Given the description of an element on the screen output the (x, y) to click on. 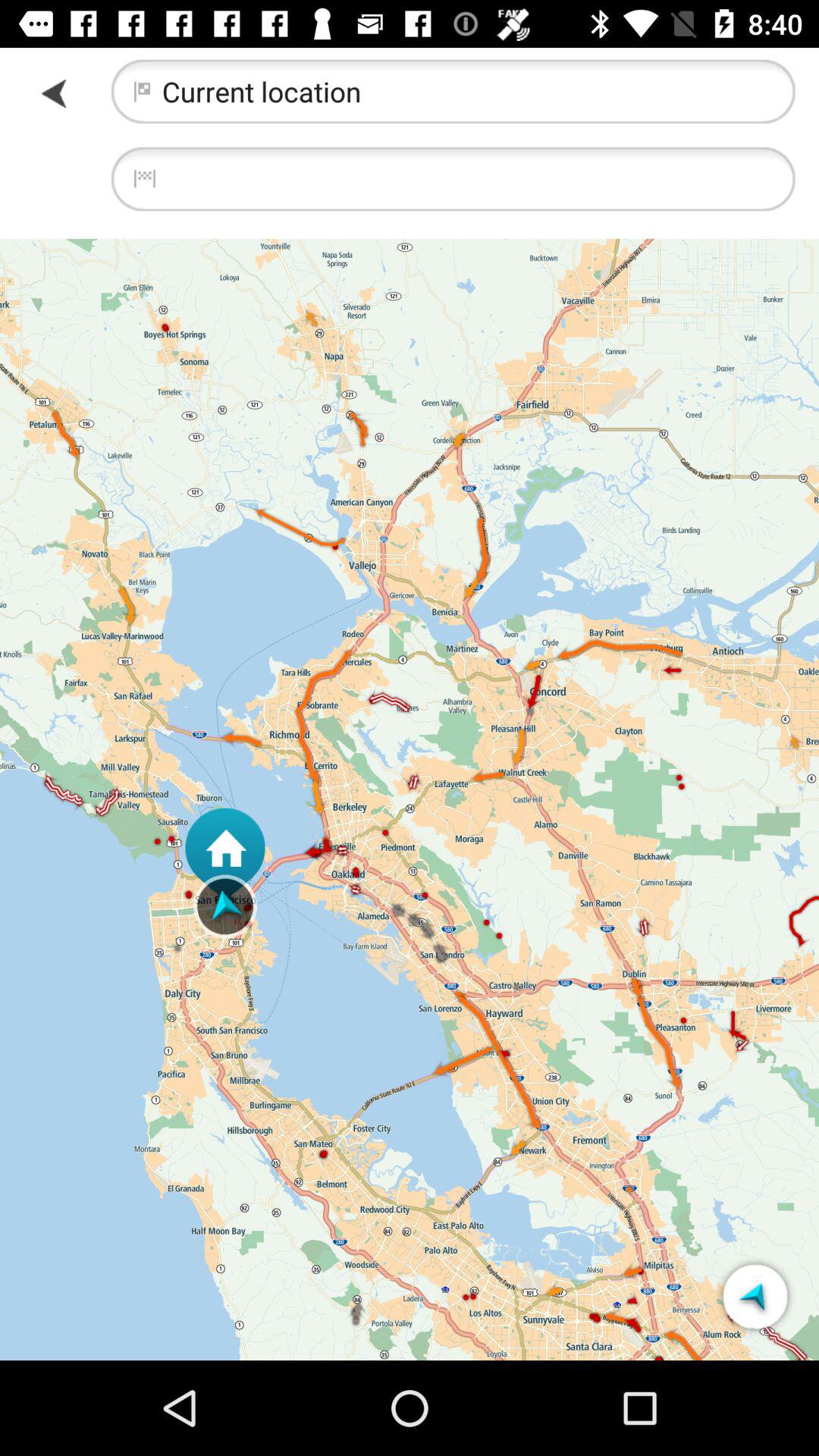
get directions (755, 1296)
